Given the description of an element on the screen output the (x, y) to click on. 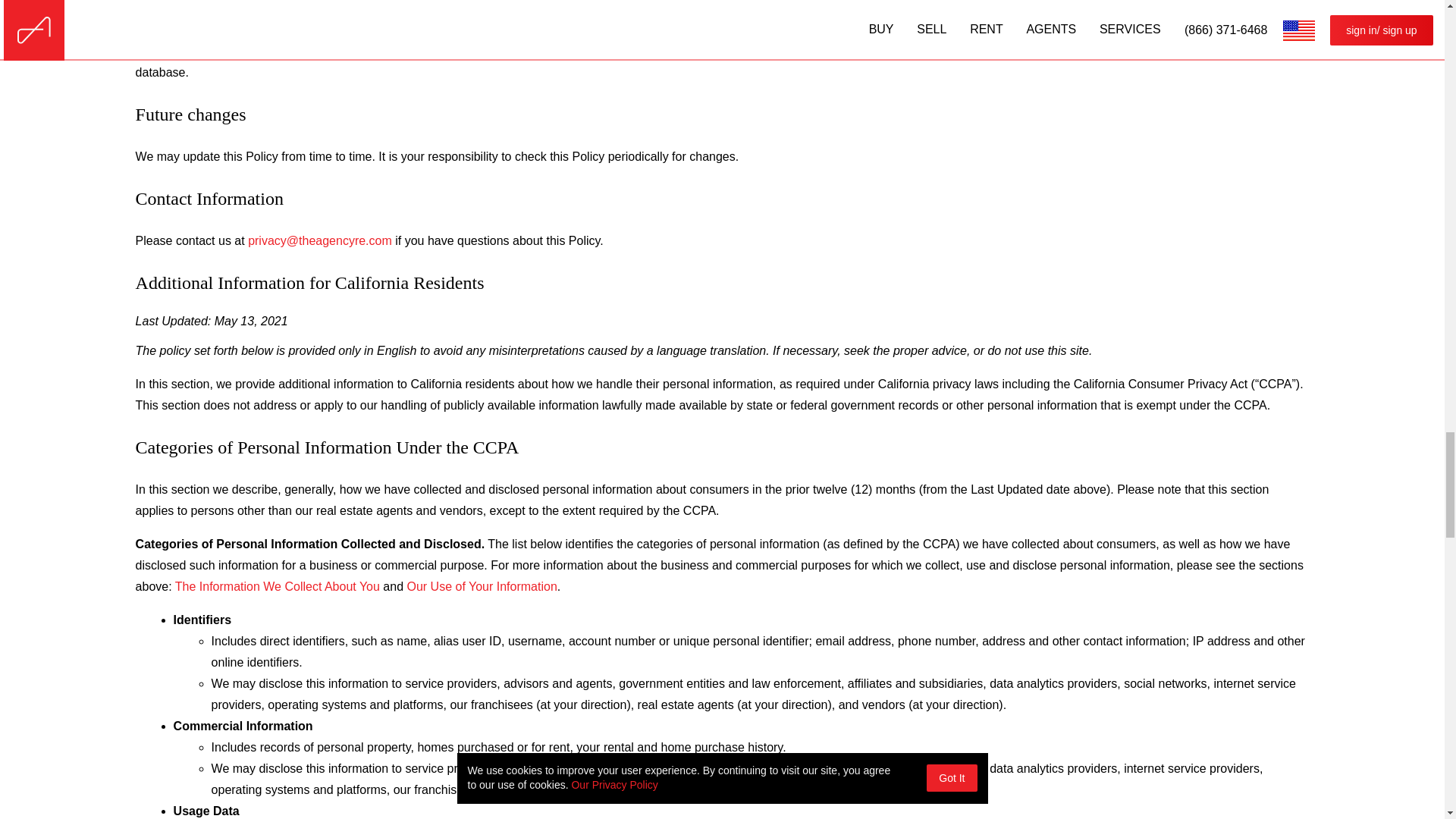
Our Use of Your Information (481, 586)
The Information We Collect About You (277, 586)
Our Use of Your Information (481, 586)
The Information We Collect About You (277, 586)
